Given the description of an element on the screen output the (x, y) to click on. 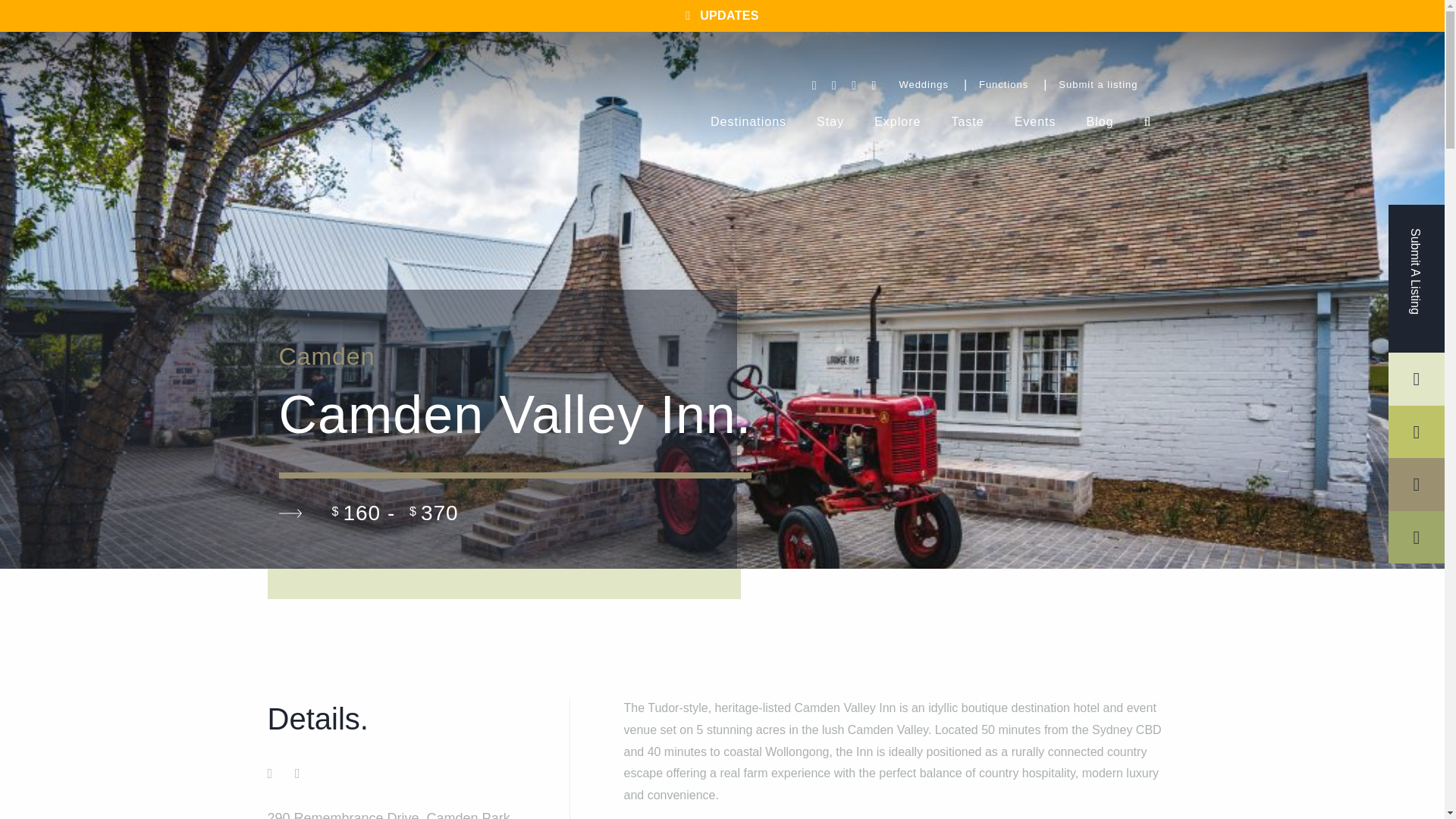
instagram (1018, 85)
Weddings (297, 773)
arrow-line (923, 85)
Taste (290, 513)
Stay (967, 122)
Explore (830, 122)
Submit a listing (897, 122)
Destinations (1098, 85)
facebook (748, 122)
Macarthur (269, 773)
Functions (873, 122)
